Given the description of an element on the screen output the (x, y) to click on. 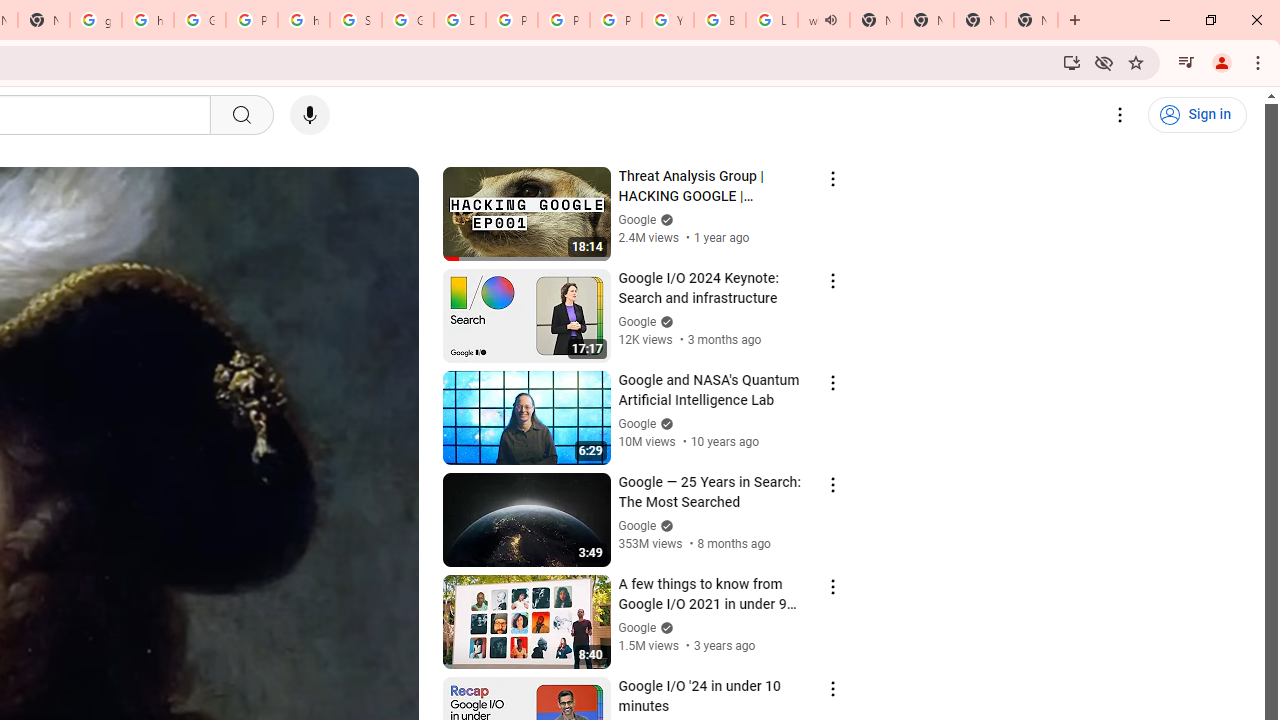
Verified (664, 627)
Search with your voice (309, 115)
New Tab (979, 20)
Mute tab (830, 20)
https://scholar.google.com/ (303, 20)
Action menu (832, 688)
